Given the description of an element on the screen output the (x, y) to click on. 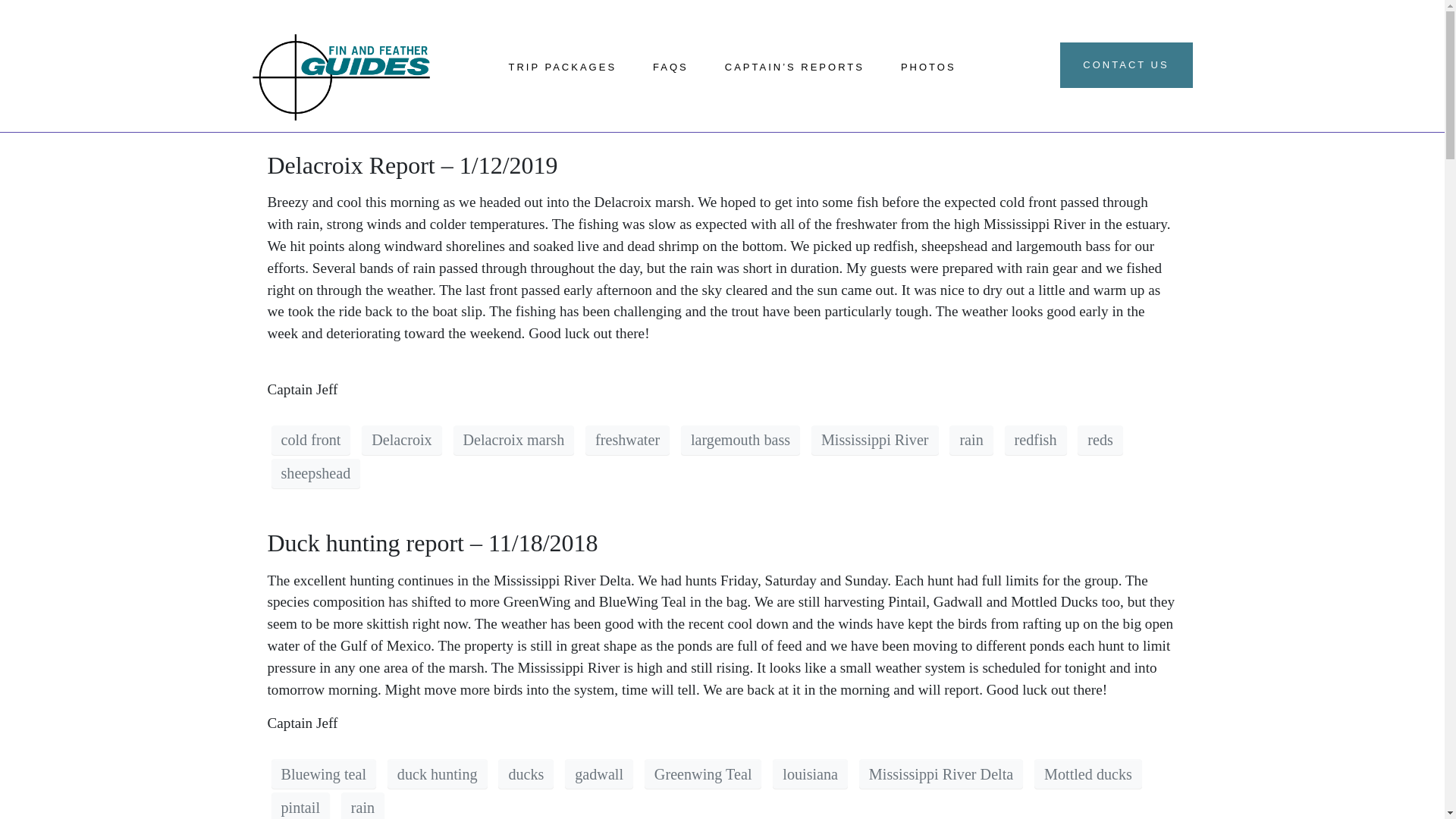
Delacroix (401, 440)
duck hunting (437, 773)
ducks (525, 773)
largemouth bass (740, 440)
sheepshead (315, 473)
rain (970, 440)
Bluewing teal (323, 773)
freshwater (627, 440)
FAQS (670, 45)
cold front (310, 440)
